Given the description of an element on the screen output the (x, y) to click on. 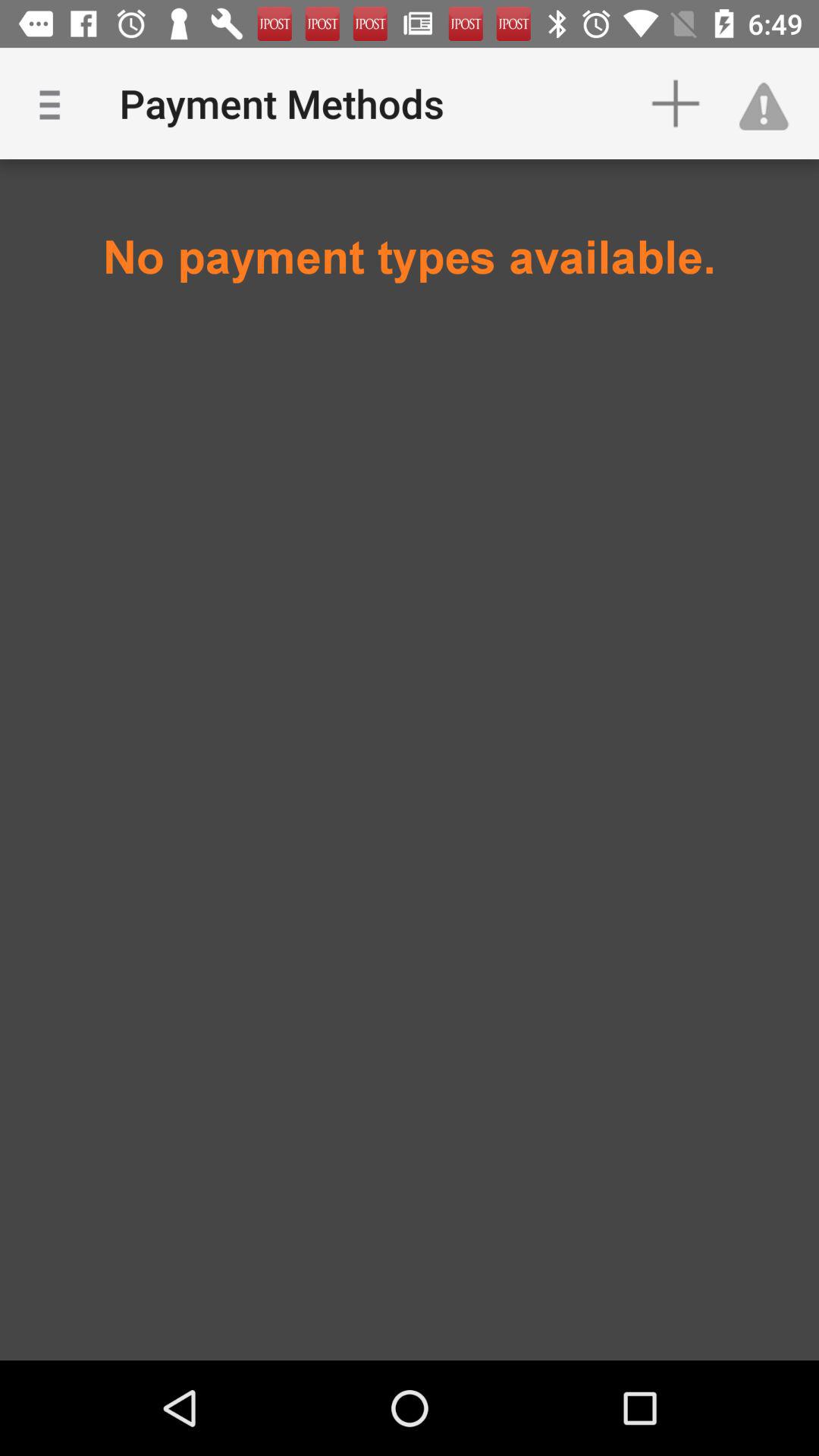
click the item below the no payment types item (409, 384)
